Given the description of an element on the screen output the (x, y) to click on. 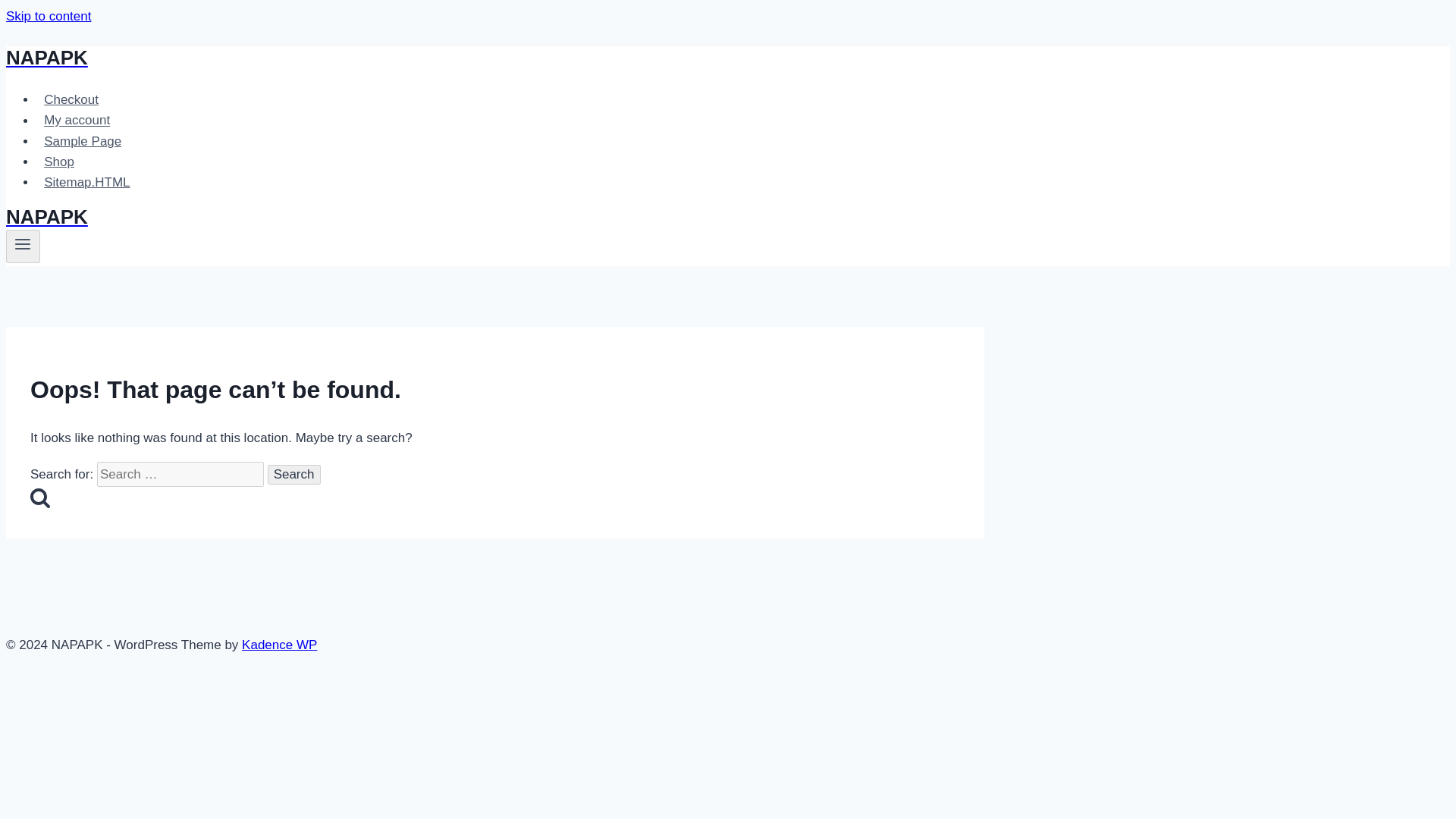
NAPAPK (494, 57)
NAPAPK (494, 217)
Search (293, 474)
Sitemap.HTML (87, 182)
Skip to content (47, 16)
Sample Page (82, 141)
Search (293, 474)
Search (39, 496)
Shop (58, 161)
Kadence WP (279, 644)
Checkout (71, 99)
My account (76, 120)
Search (293, 474)
Toggle Menu (22, 245)
Toggle Menu (22, 244)
